Given the description of an element on the screen output the (x, y) to click on. 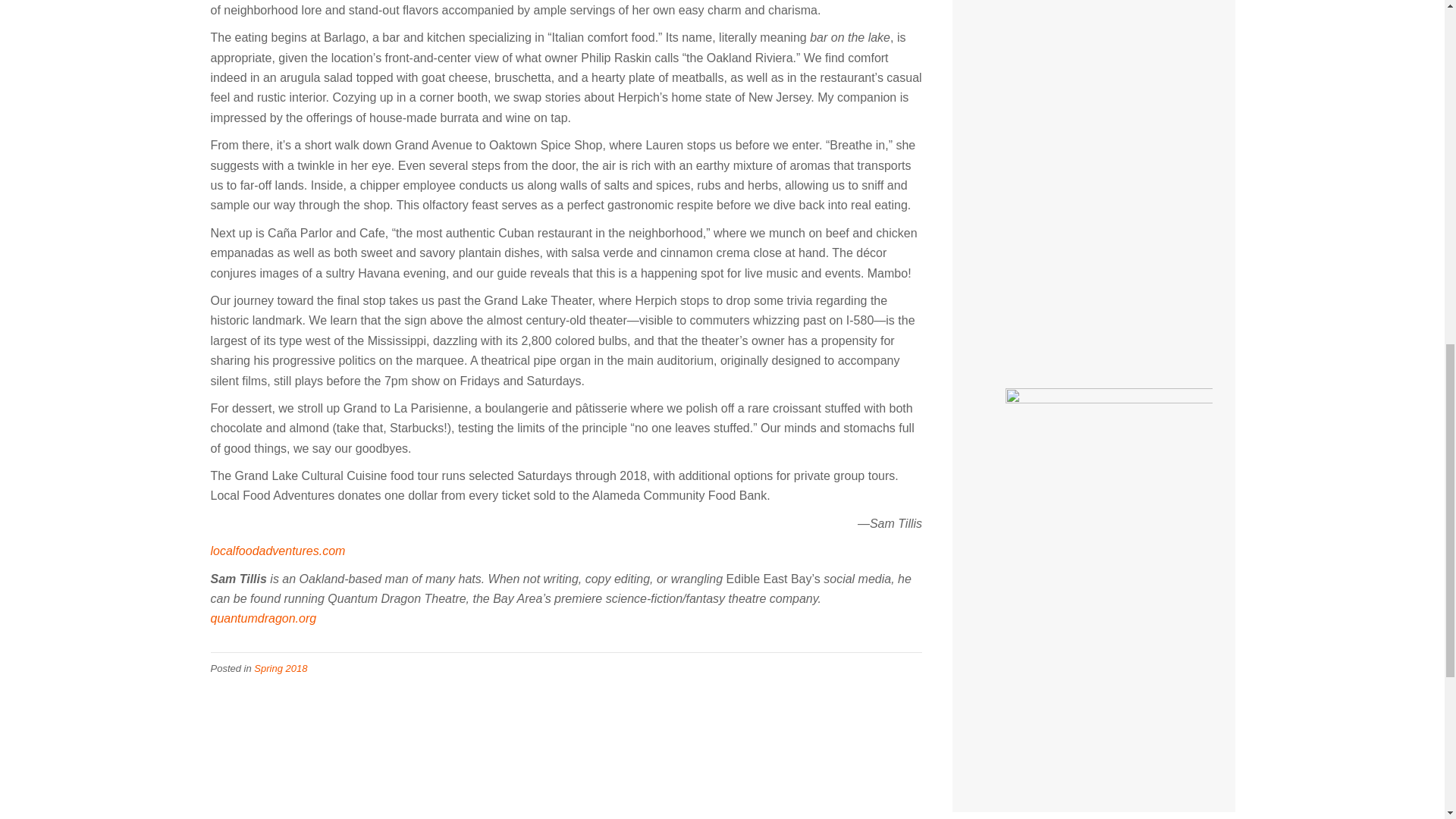
Spring 2018 (280, 668)
localfoodadventures.com (278, 550)
quantumdragon.org (264, 617)
